Given the description of an element on the screen output the (x, y) to click on. 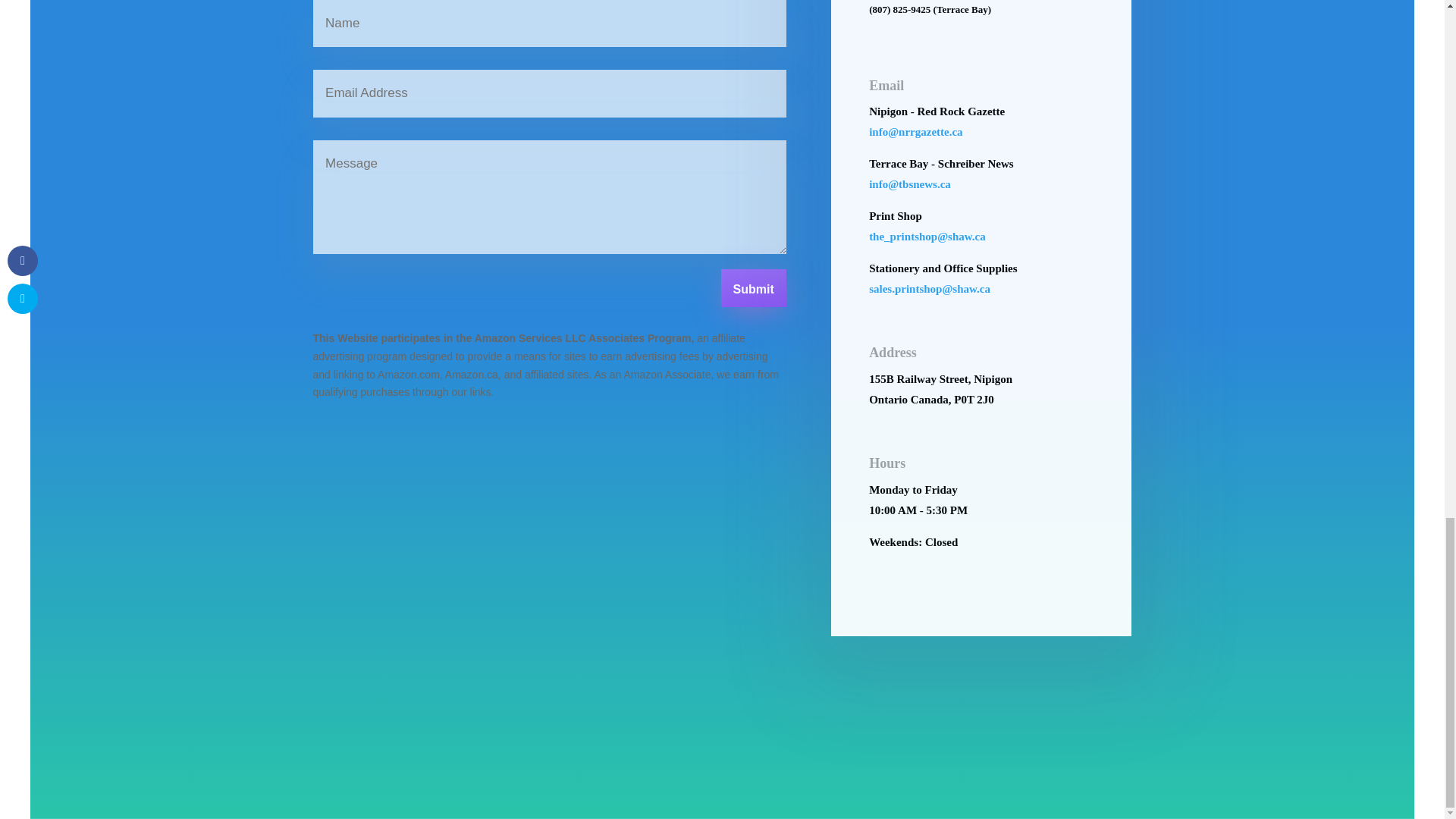
Submit (753, 288)
